Given the description of an element on the screen output the (x, y) to click on. 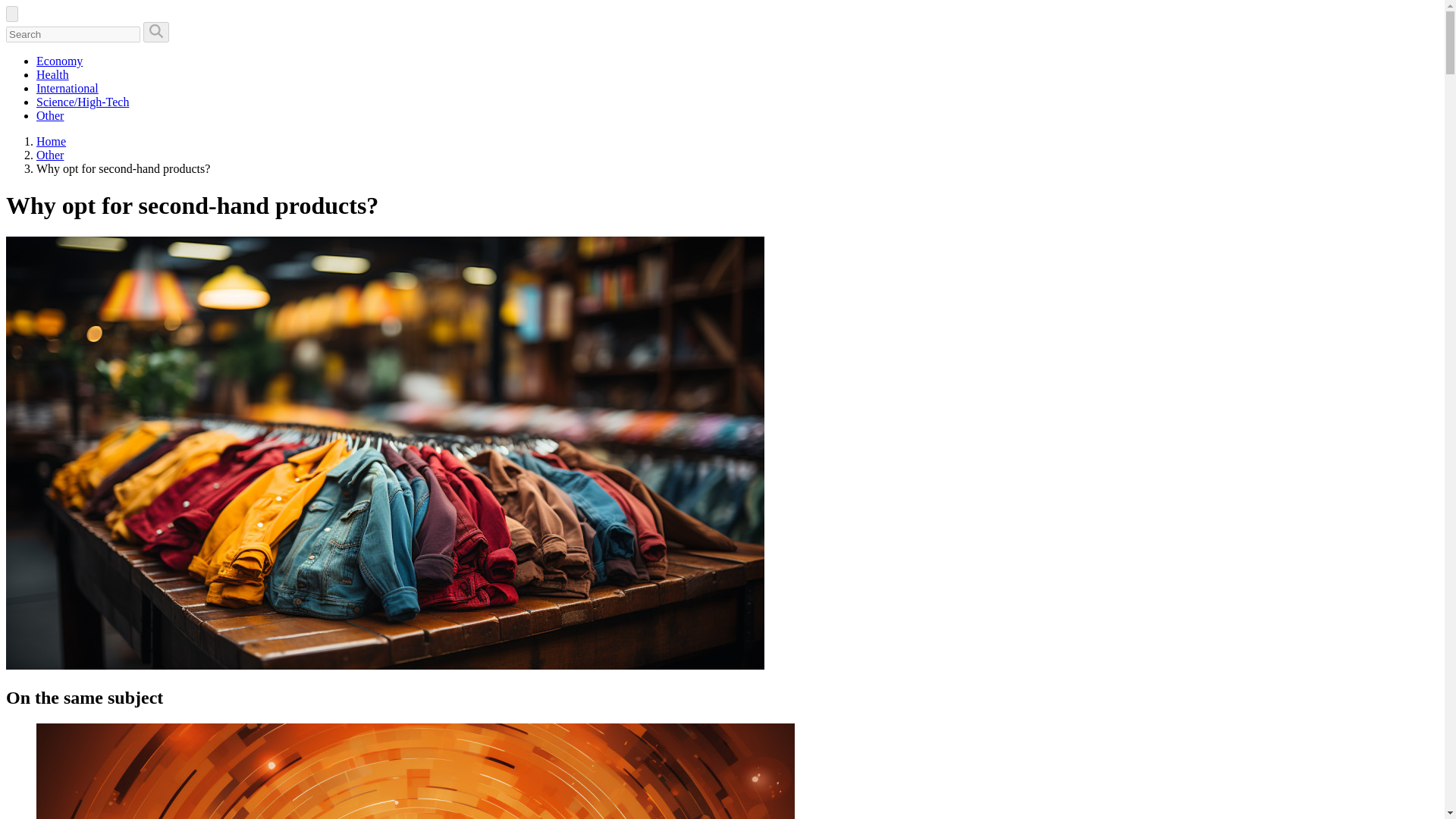
International (67, 88)
Other (50, 154)
Economy (59, 60)
Other (50, 115)
Health (52, 74)
Other (50, 154)
Home (50, 141)
